Given the description of an element on the screen output the (x, y) to click on. 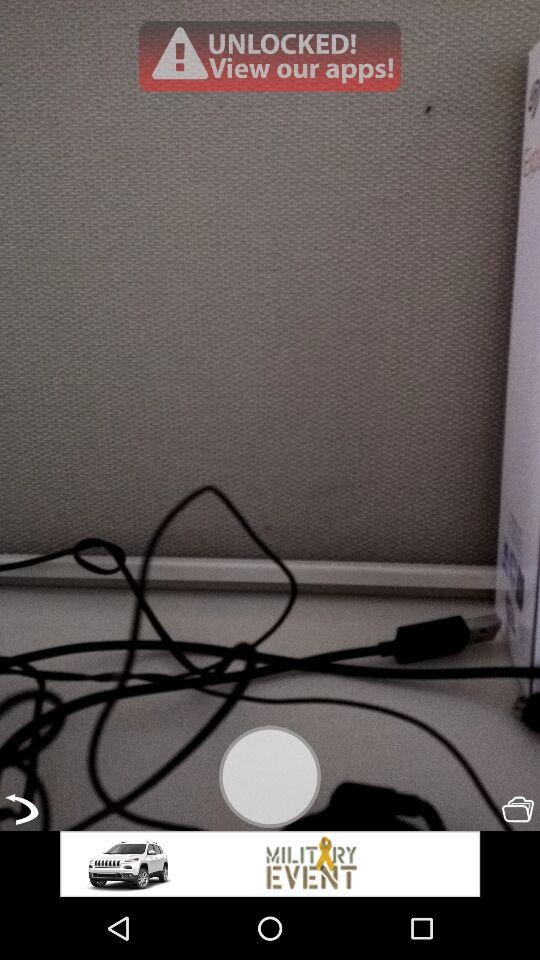
rotate photo (21, 809)
